Given the description of an element on the screen output the (x, y) to click on. 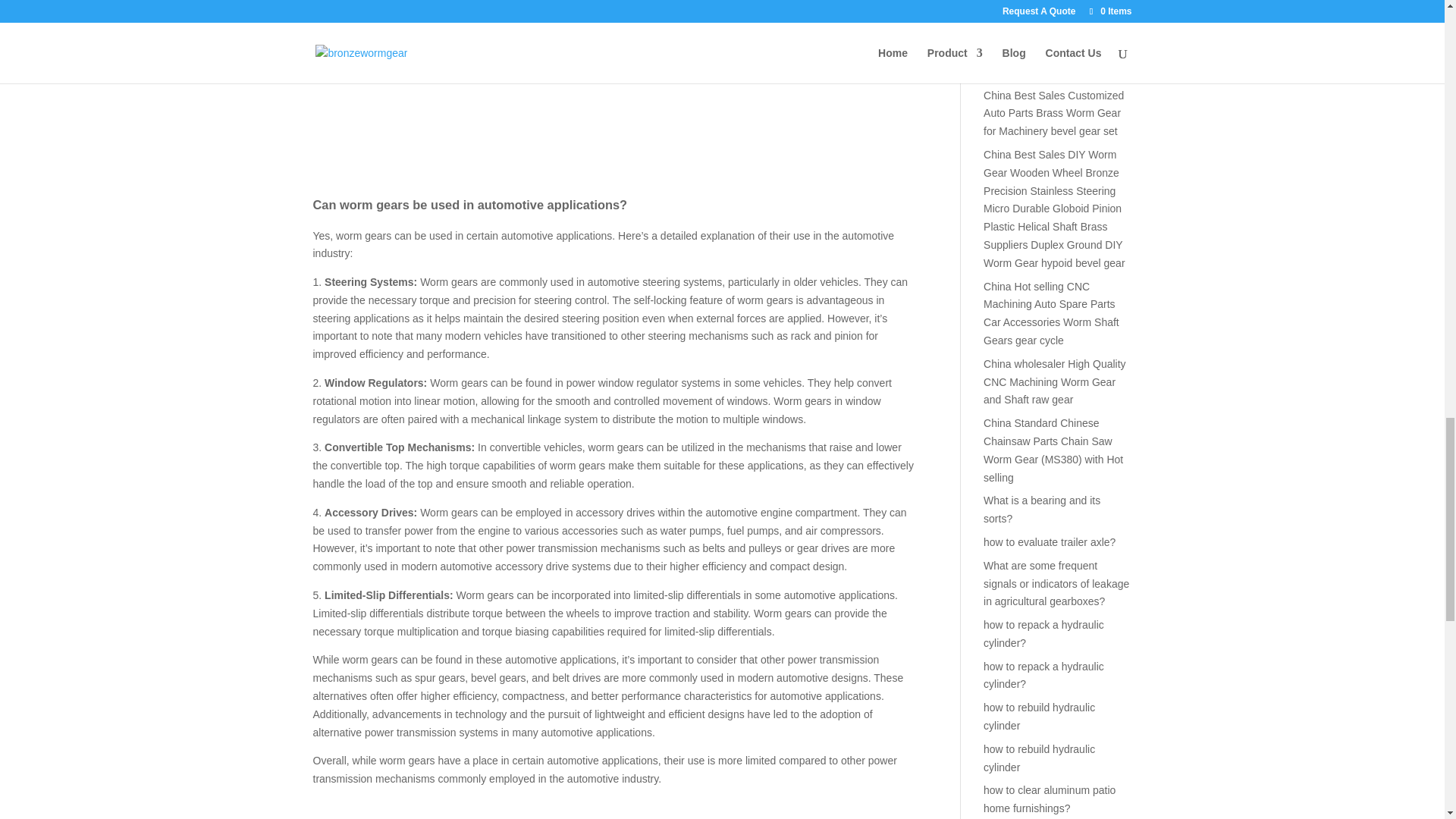
how to rebuild hydraulic cylinder (1039, 716)
What is a bearing and its sorts? (1042, 509)
how to repack a hydraulic cylinder? (1043, 675)
how to repack a hydraulic cylinder? (1043, 634)
how to evaluate trailer axle? (1049, 541)
